Given the description of an element on the screen output the (x, y) to click on. 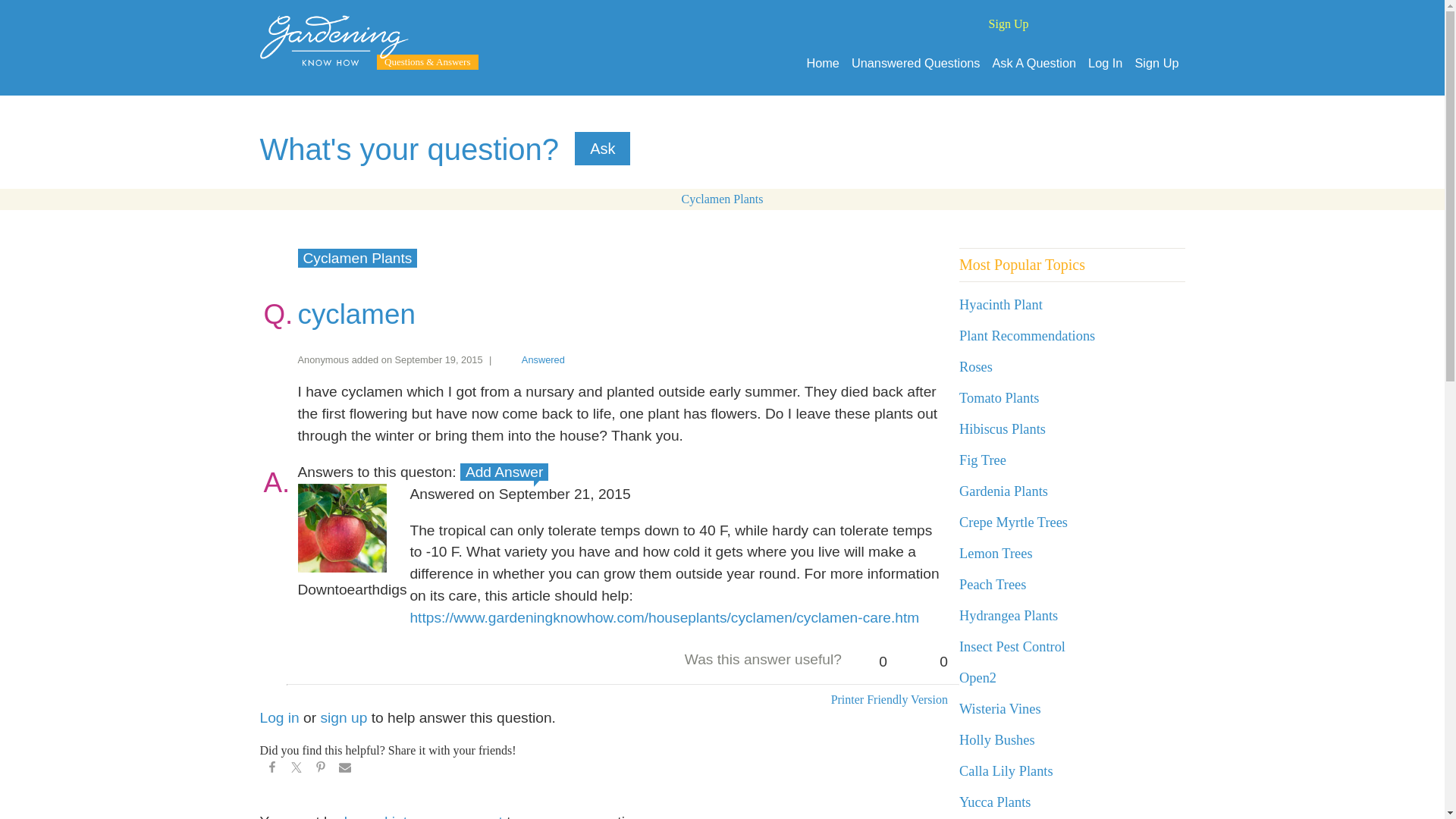
Tomato Plants (999, 397)
Hyacinth Plant (1000, 304)
Add Answer (504, 471)
Gardenia Plants (1003, 491)
Cyclamen Plants (356, 257)
Gardenia Plants (1003, 491)
Log in (278, 717)
Lemon Trees (995, 553)
Hibiscus Plants (1002, 428)
logged into your account (422, 816)
Share via Email (343, 769)
Hibiscus Plants (1002, 428)
Printer Friendly Version (889, 698)
Share on Pinterest (319, 769)
Cyclamen Plants (721, 198)
